Given the description of an element on the screen output the (x, y) to click on. 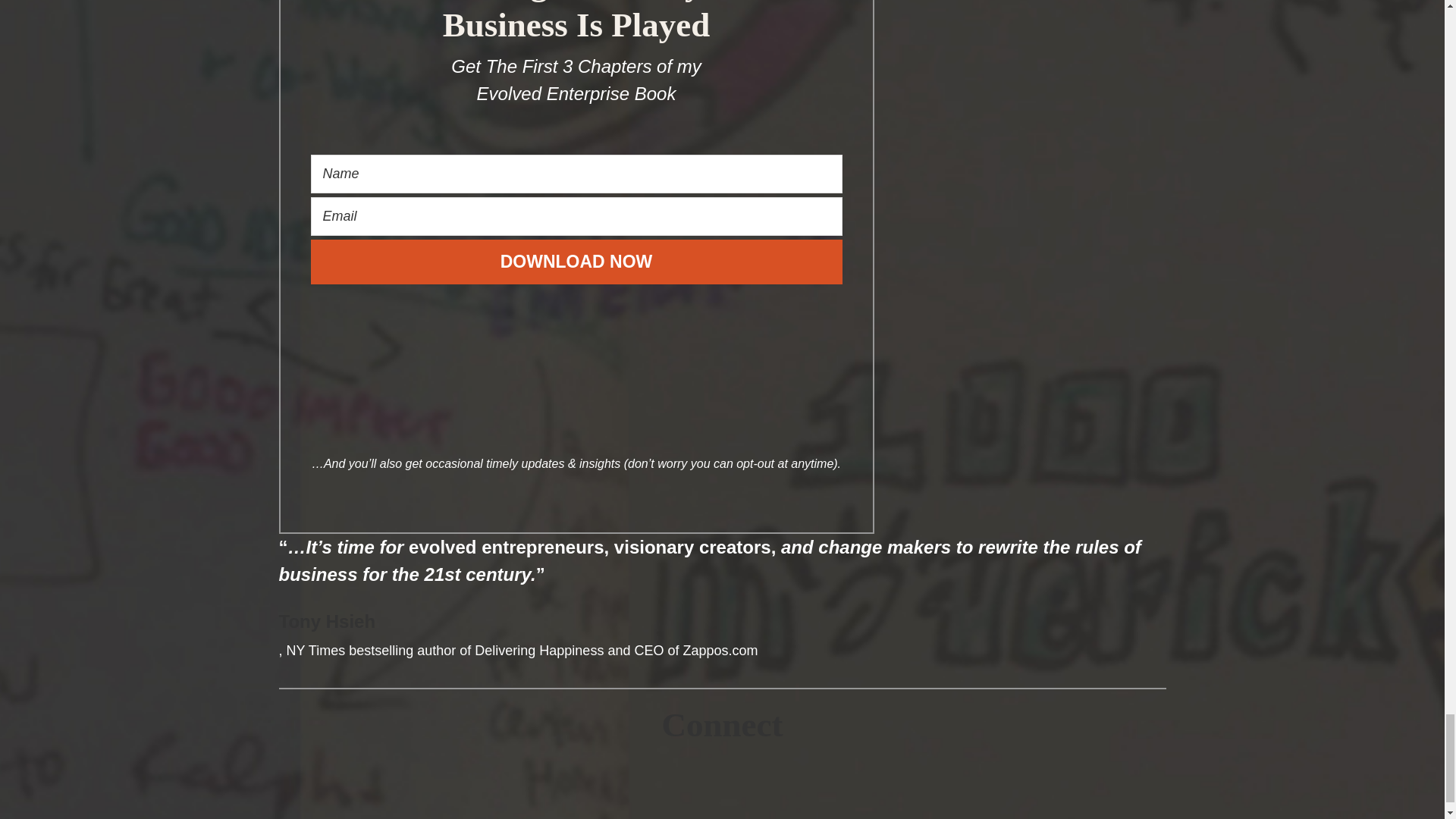
Download Now (577, 261)
Download Now (577, 261)
